Given the description of an element on the screen output the (x, y) to click on. 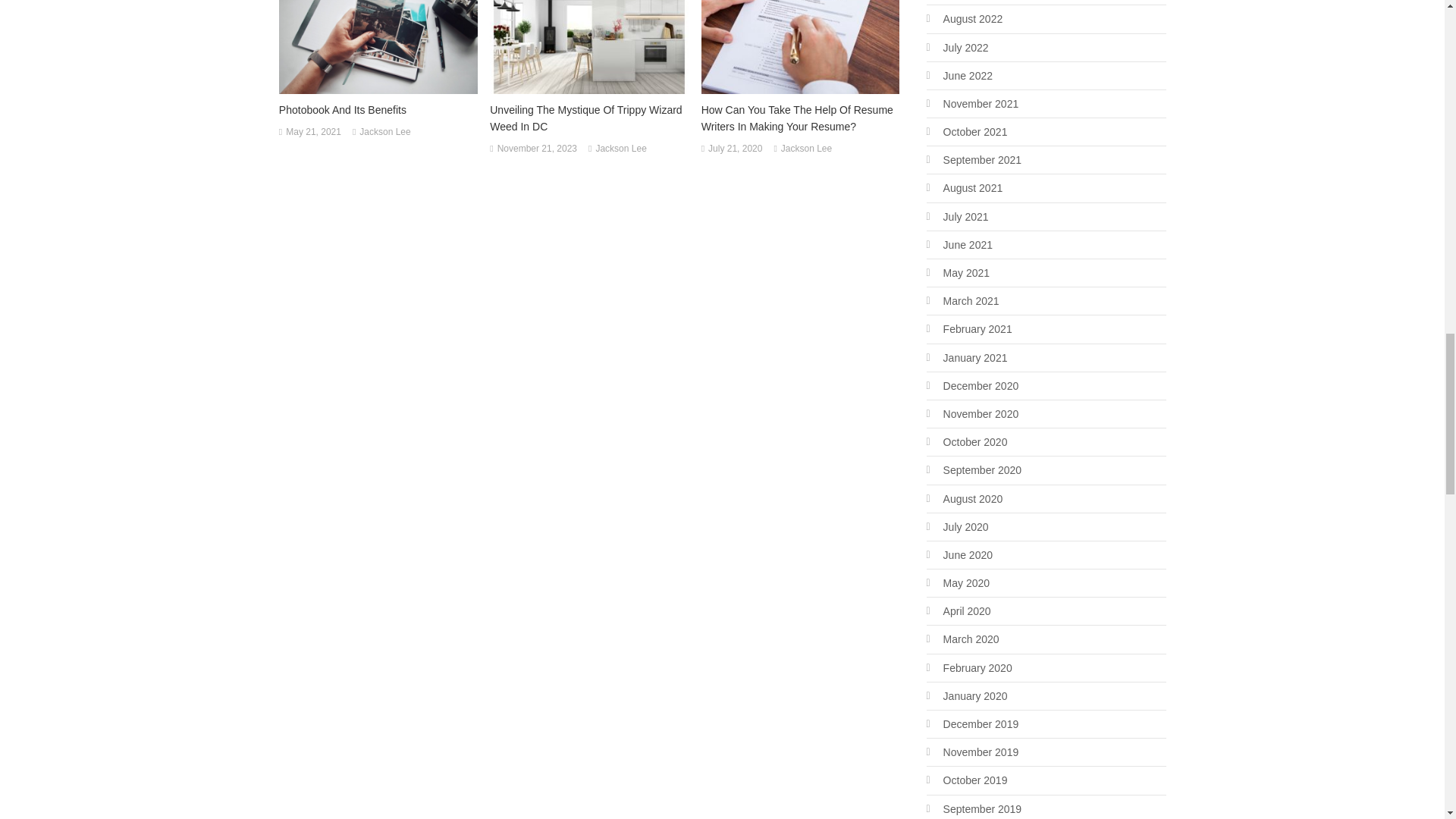
Jackson Lee (620, 149)
Jackson Lee (805, 149)
July 21, 2020 (734, 149)
Jackson Lee (384, 132)
Photobook And Its Benefits (378, 109)
November 21, 2023 (536, 149)
Unveiling The Mystique Of Trippy Wizard Weed In DC (588, 118)
May 21, 2021 (312, 132)
